Given the description of an element on the screen output the (x, y) to click on. 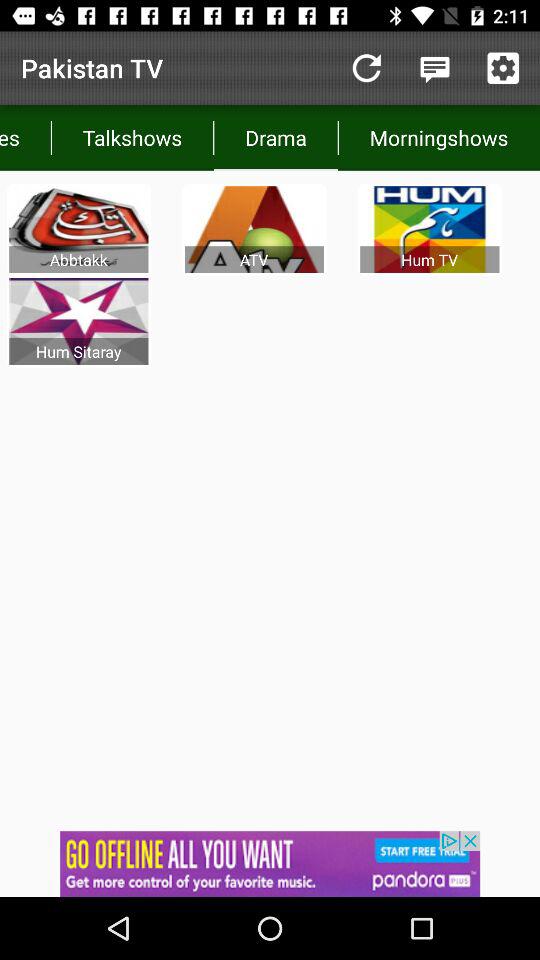
open menu (434, 67)
